Given the description of an element on the screen output the (x, y) to click on. 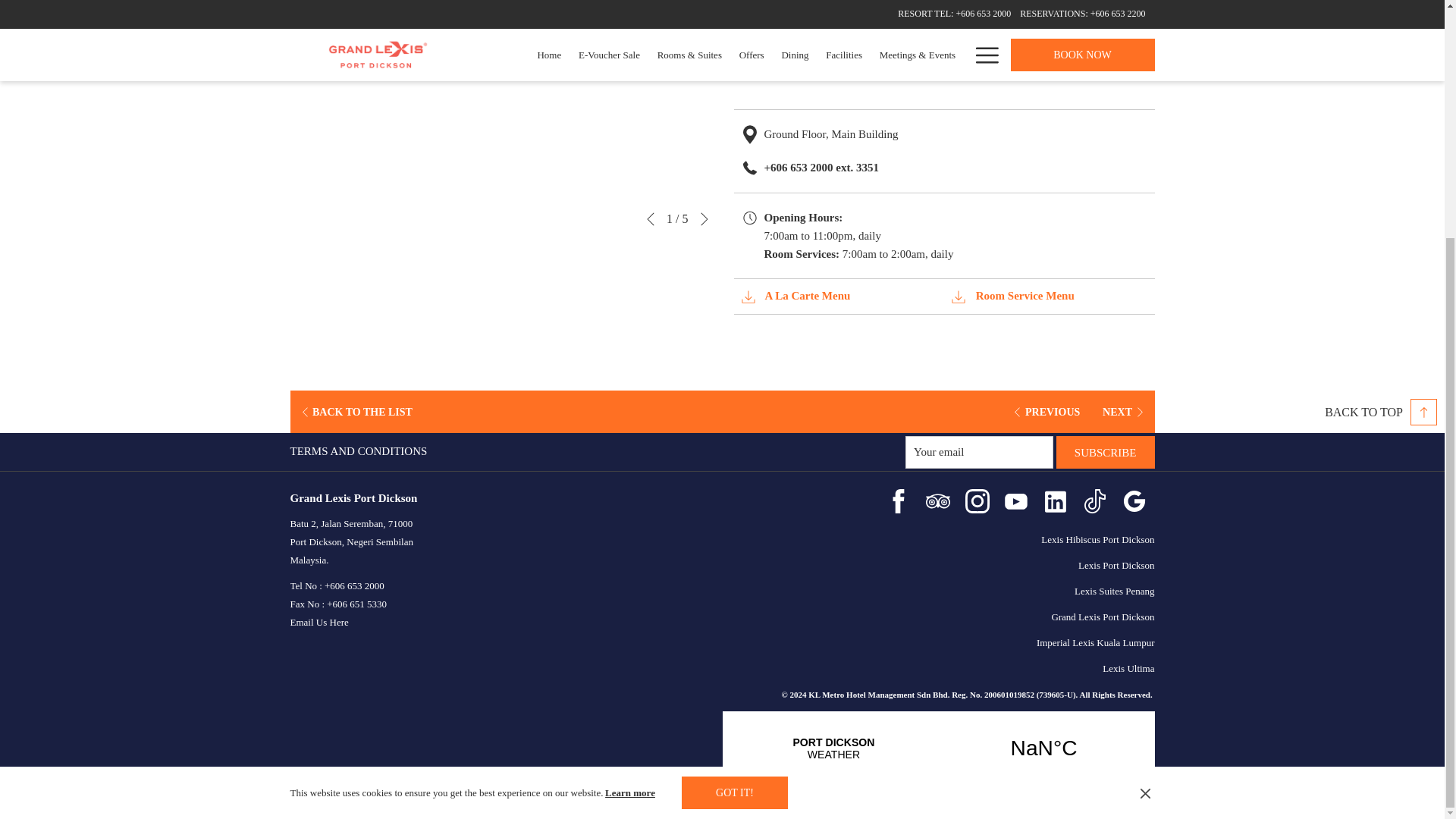
Weather Widget (938, 748)
GOT IT! (734, 467)
Learn more (631, 467)
